Given the description of an element on the screen output the (x, y) to click on. 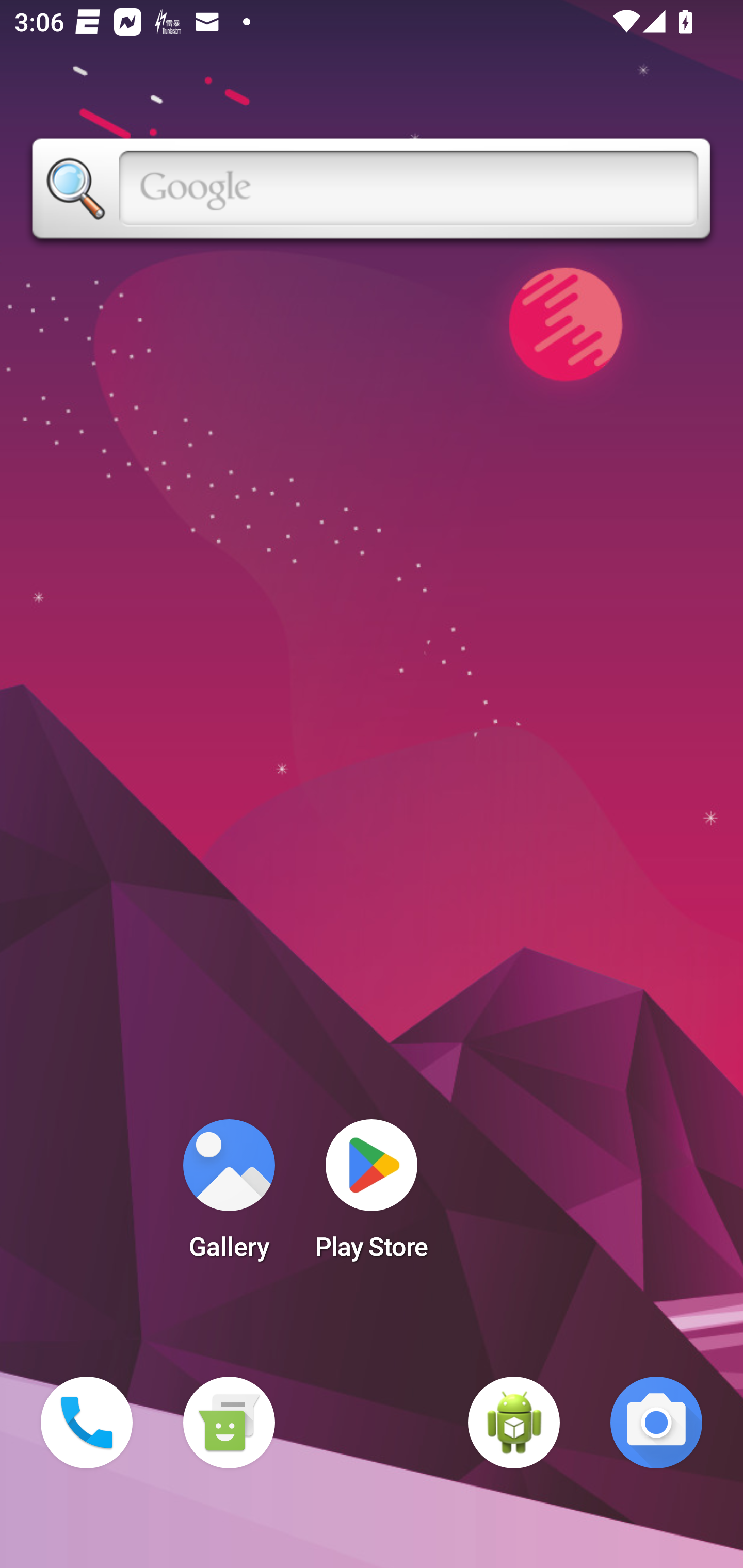
Gallery (228, 1195)
Play Store (371, 1195)
Phone (86, 1422)
Messaging (228, 1422)
WebView Browser Tester (513, 1422)
Camera (656, 1422)
